Given the description of an element on the screen output the (x, y) to click on. 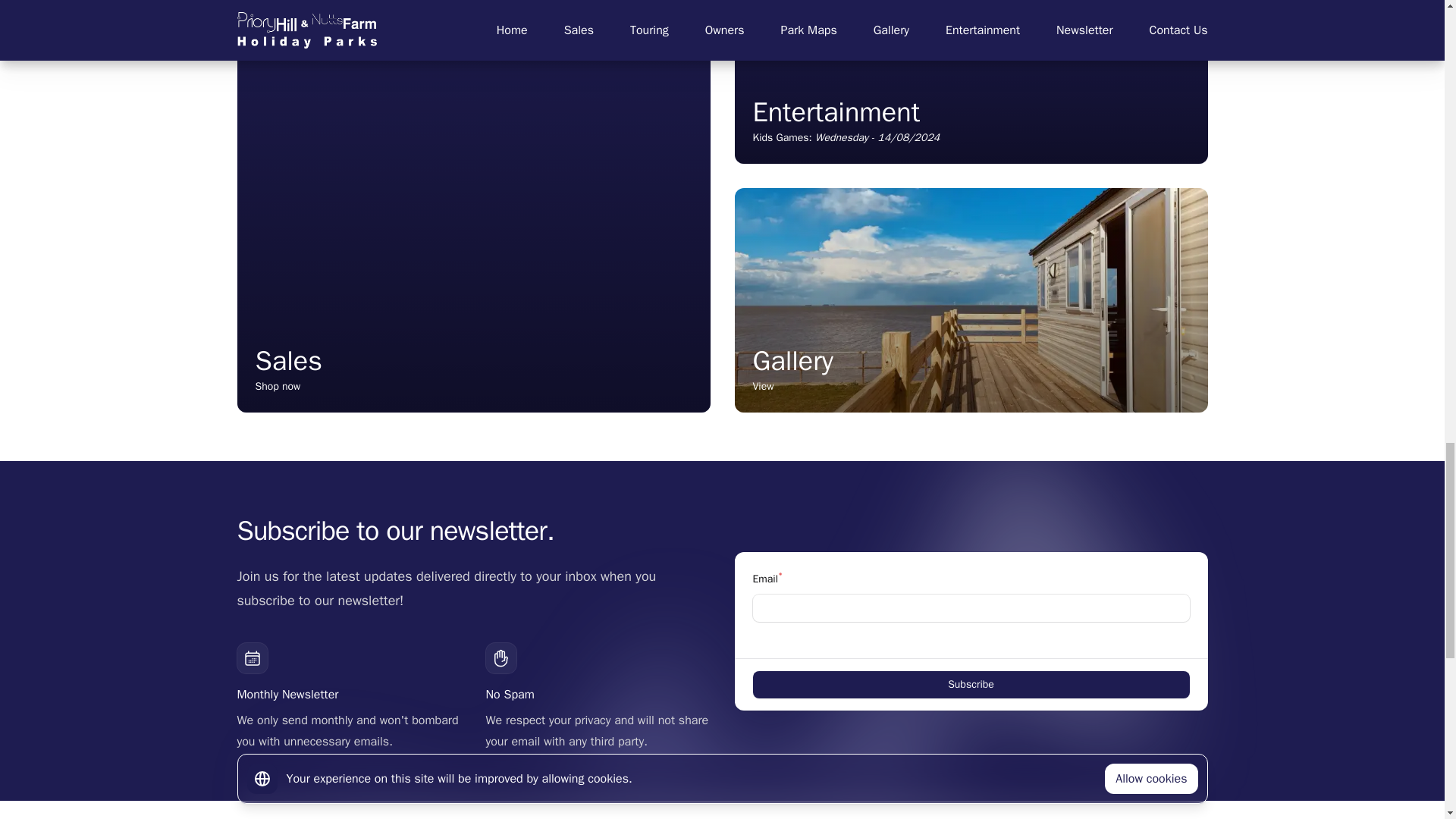
Kids Games performing at Priory Hill in Leysdown, Kent (970, 81)
Subscribe (970, 300)
